Given the description of an element on the screen output the (x, y) to click on. 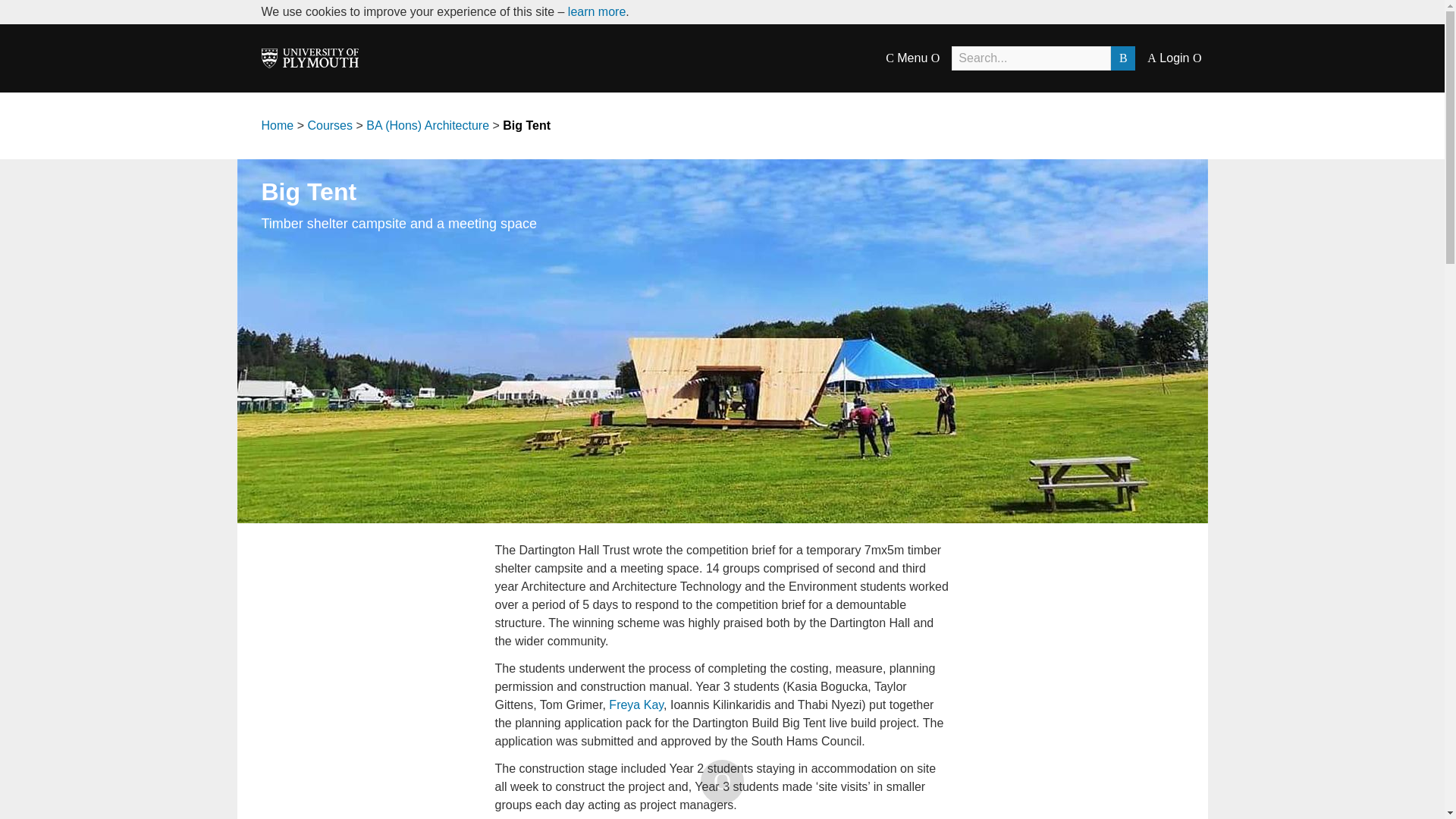
C Menu O (911, 58)
B (1122, 57)
A Login O (1174, 58)
learn more (596, 11)
